Given the description of an element on the screen output the (x, y) to click on. 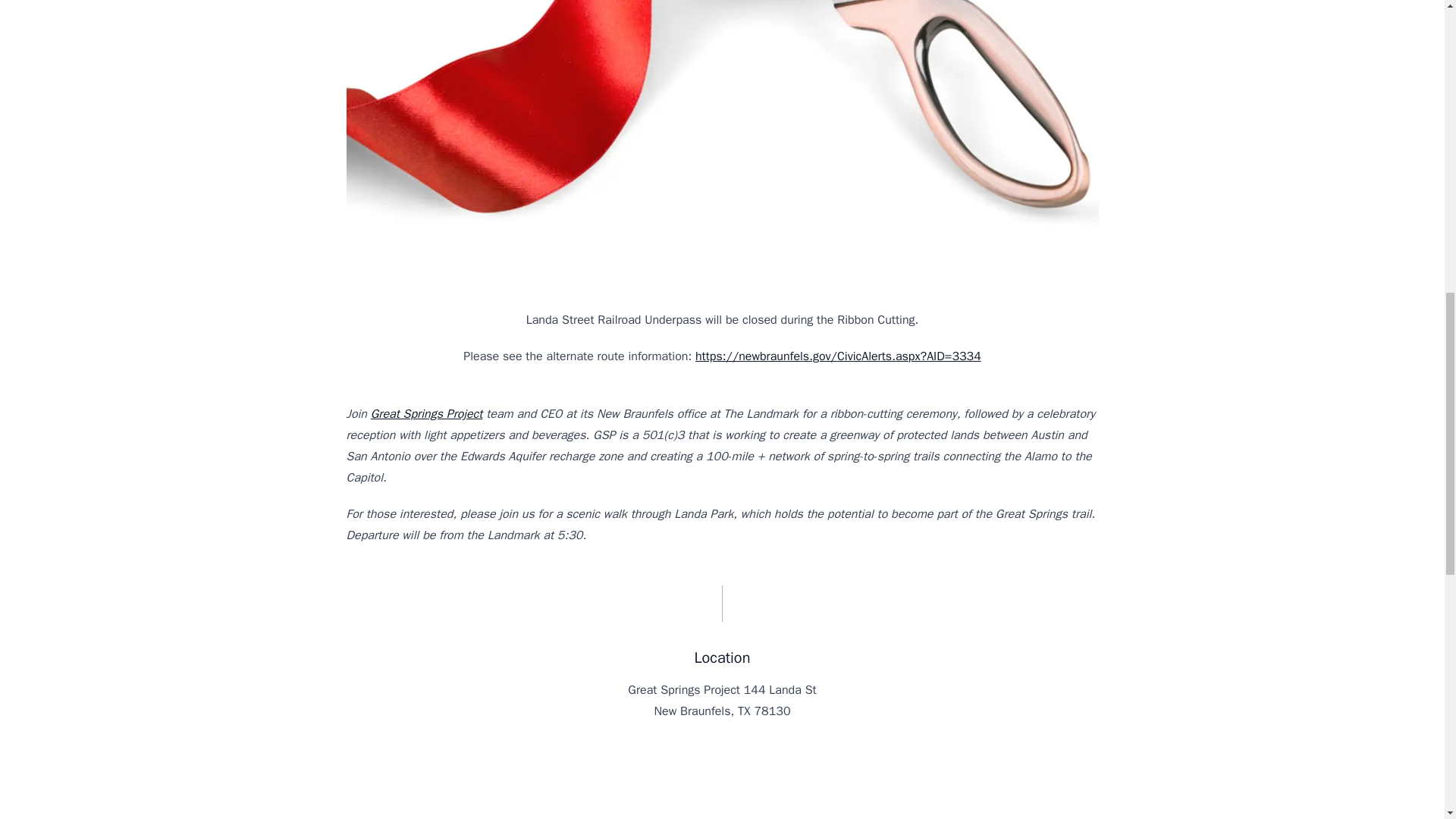
Great Springs Project (427, 413)
